Given the description of an element on the screen output the (x, y) to click on. 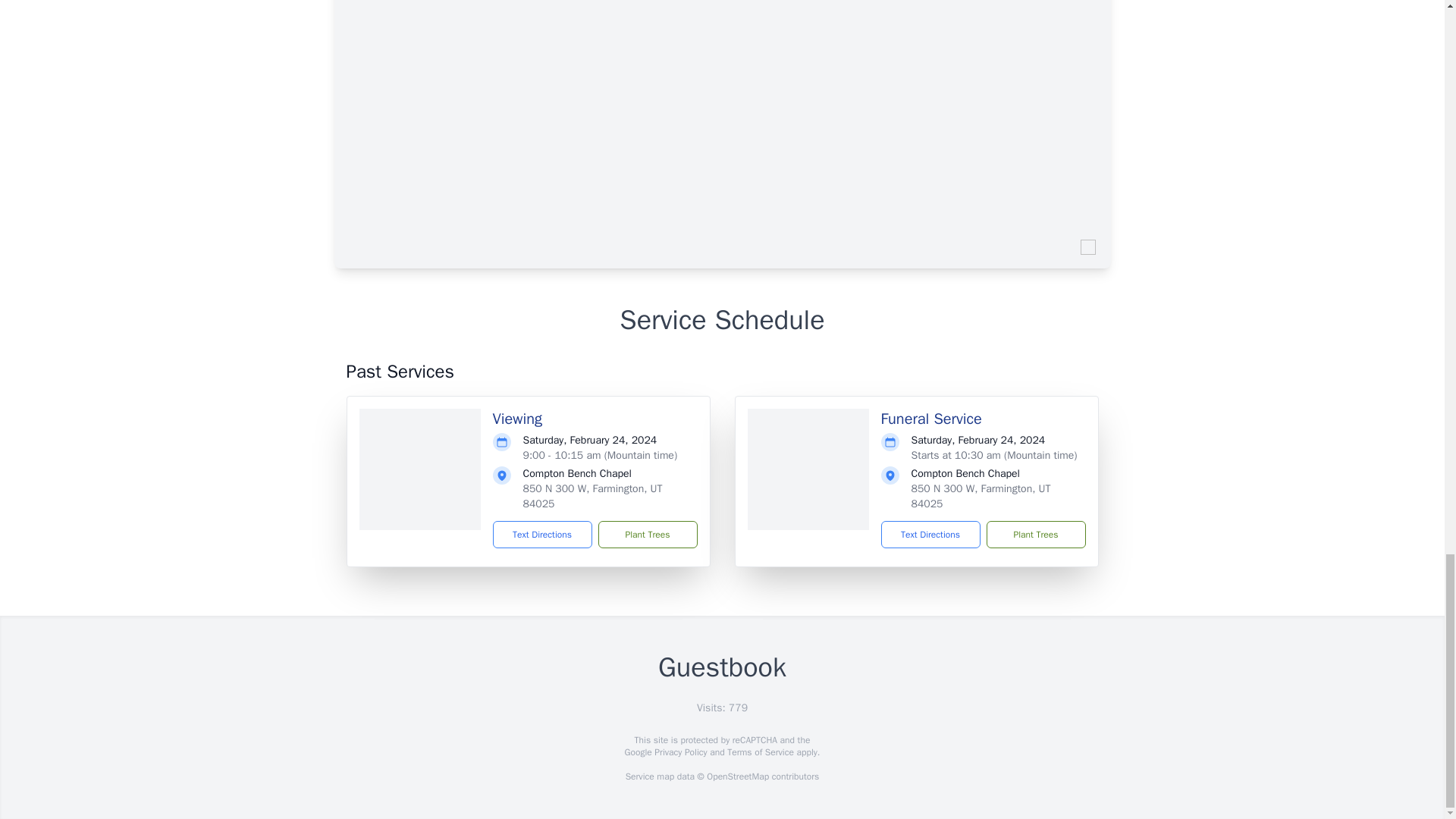
Text Directions (929, 533)
Plant Trees (1034, 533)
Privacy Policy (679, 752)
850 N 300 W, Farmington, UT 84025 (592, 496)
Terms of Service (759, 752)
850 N 300 W, Farmington, UT 84025 (981, 496)
OpenStreetMap (737, 776)
Text Directions (542, 533)
Plant Trees (646, 533)
